Given the description of an element on the screen output the (x, y) to click on. 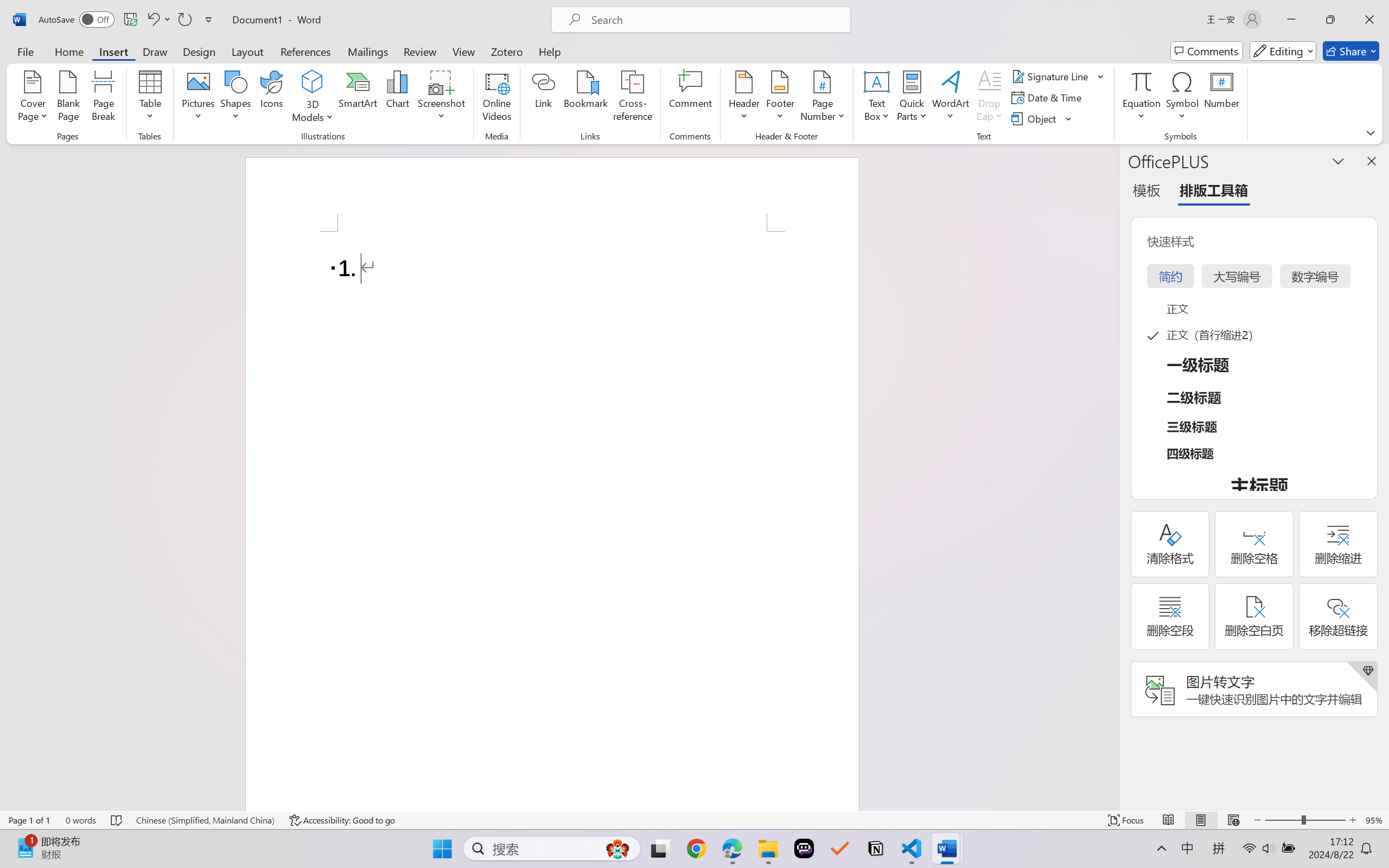
Online Videos... (496, 97)
Icons (271, 97)
Shapes (235, 97)
Page Break (103, 97)
